Given the description of an element on the screen output the (x, y) to click on. 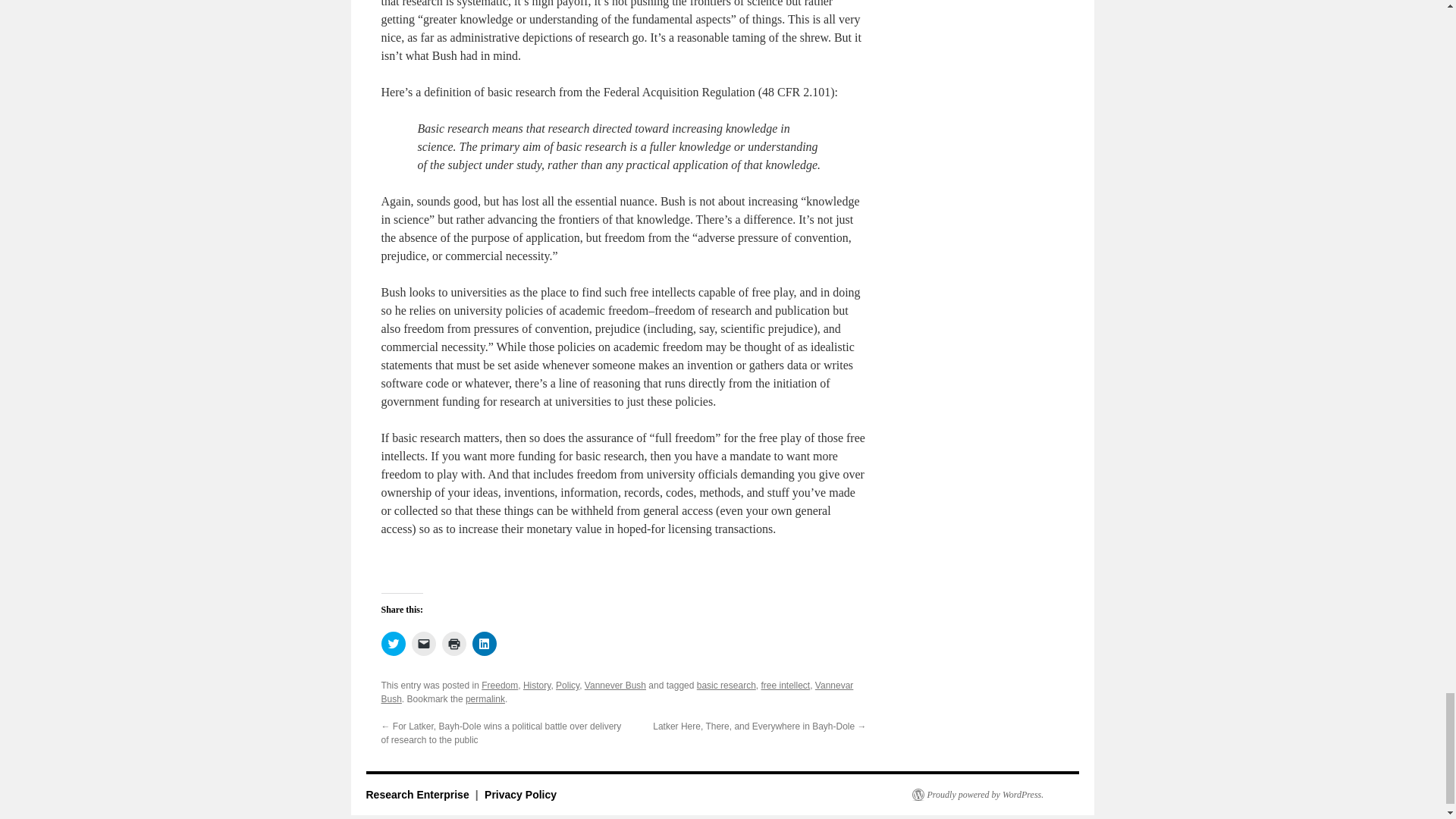
Policy (567, 685)
Vannever Bush (615, 685)
Click to share on LinkedIn (483, 643)
Freedom (499, 685)
Click to print (453, 643)
History (536, 685)
free intellect (784, 685)
basic research (726, 685)
Click to email a link to a friend (422, 643)
Click to share on Twitter (392, 643)
Vannevar Bush (616, 692)
permalink (485, 698)
